Given the description of an element on the screen output the (x, y) to click on. 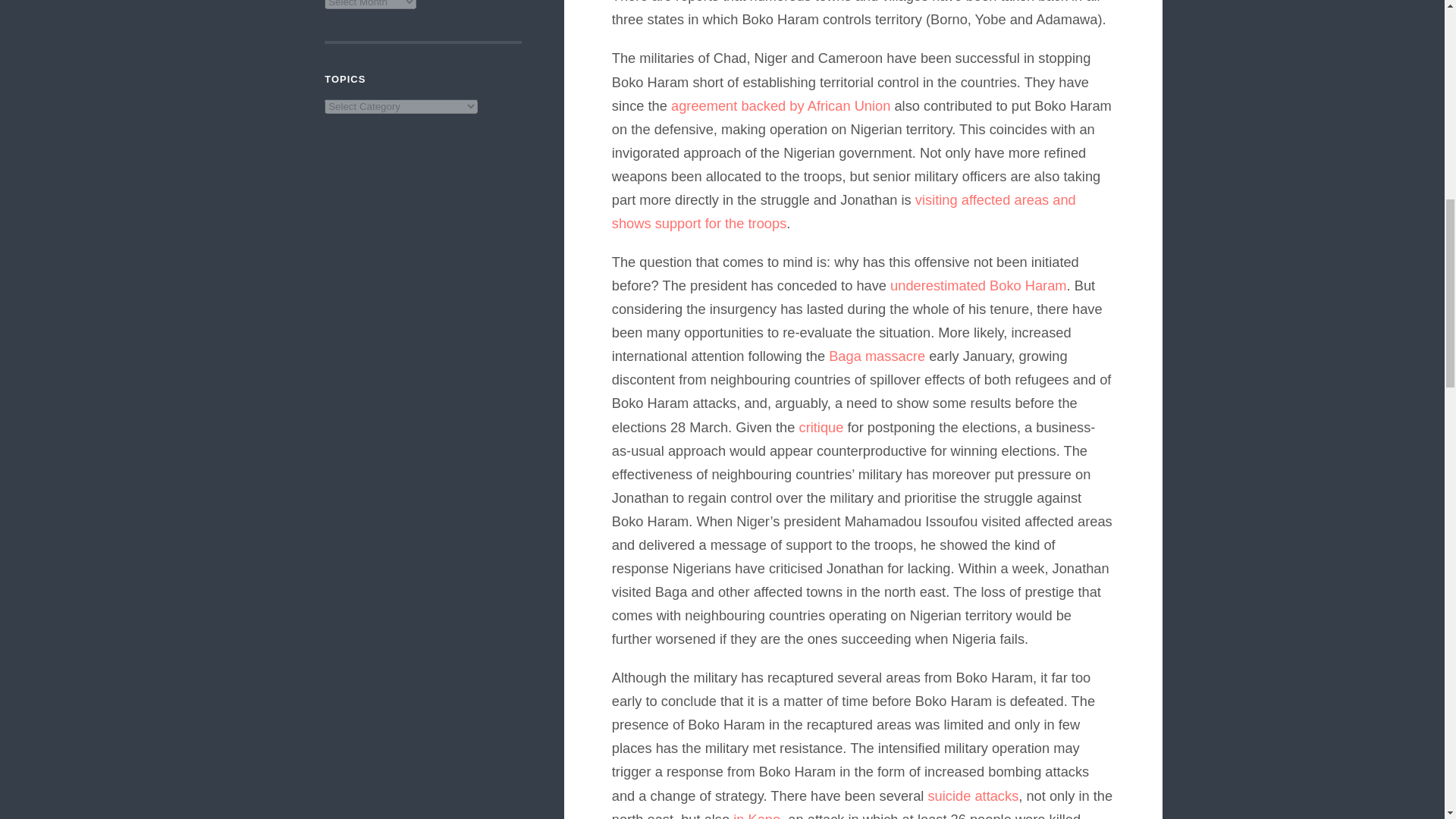
in Kano (756, 815)
critique (821, 426)
Baga massacre (876, 355)
underestimated Boko Haram (978, 285)
agreement backed by African Union (780, 105)
suicide attacks (972, 795)
visiting affected areas and shows support for the troops (843, 210)
